Given the description of an element on the screen output the (x, y) to click on. 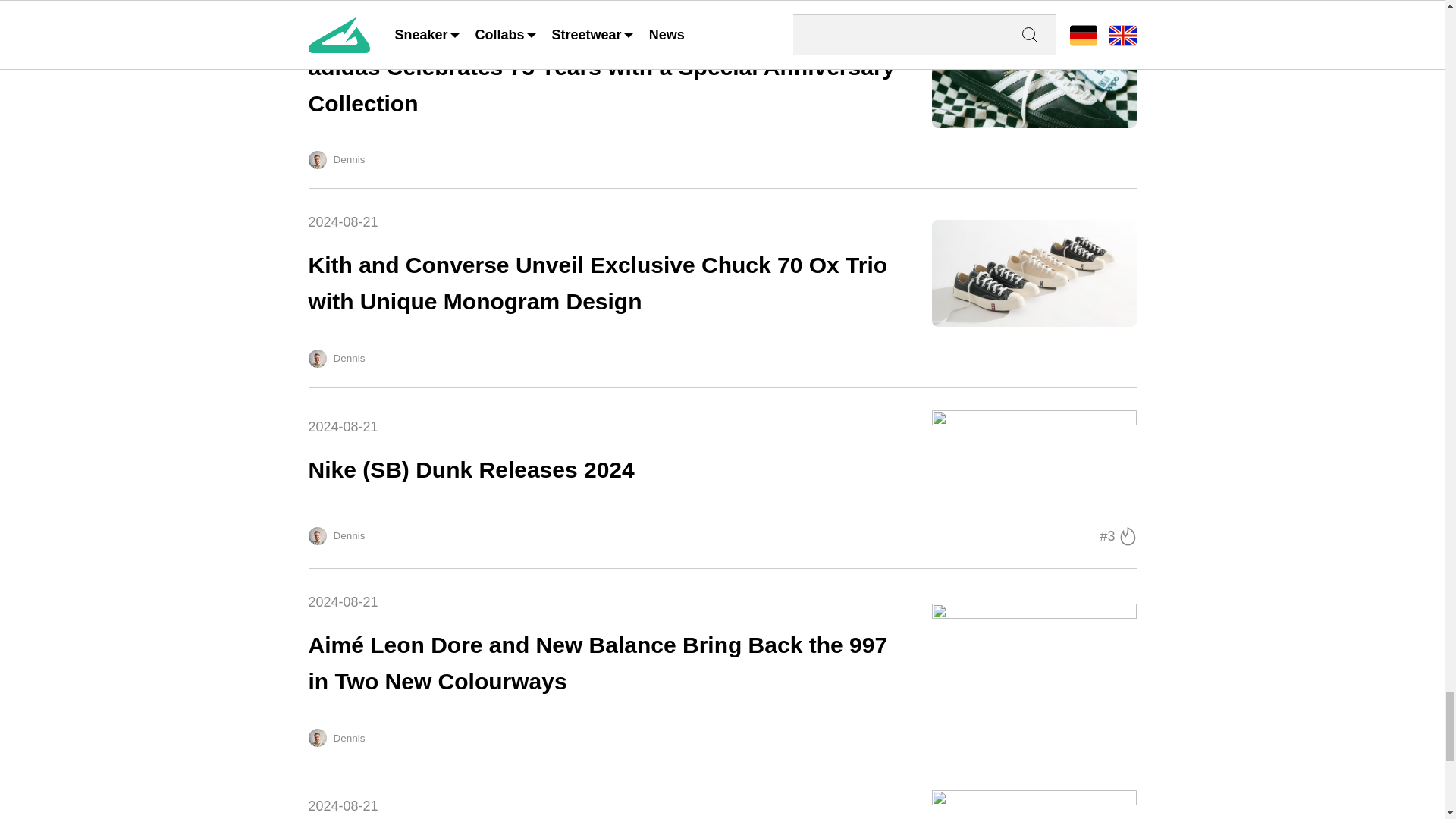
Dennis (316, 358)
Dennis (721, 802)
Dennis (316, 159)
Dennis (316, 737)
